Given the description of an element on the screen output the (x, y) to click on. 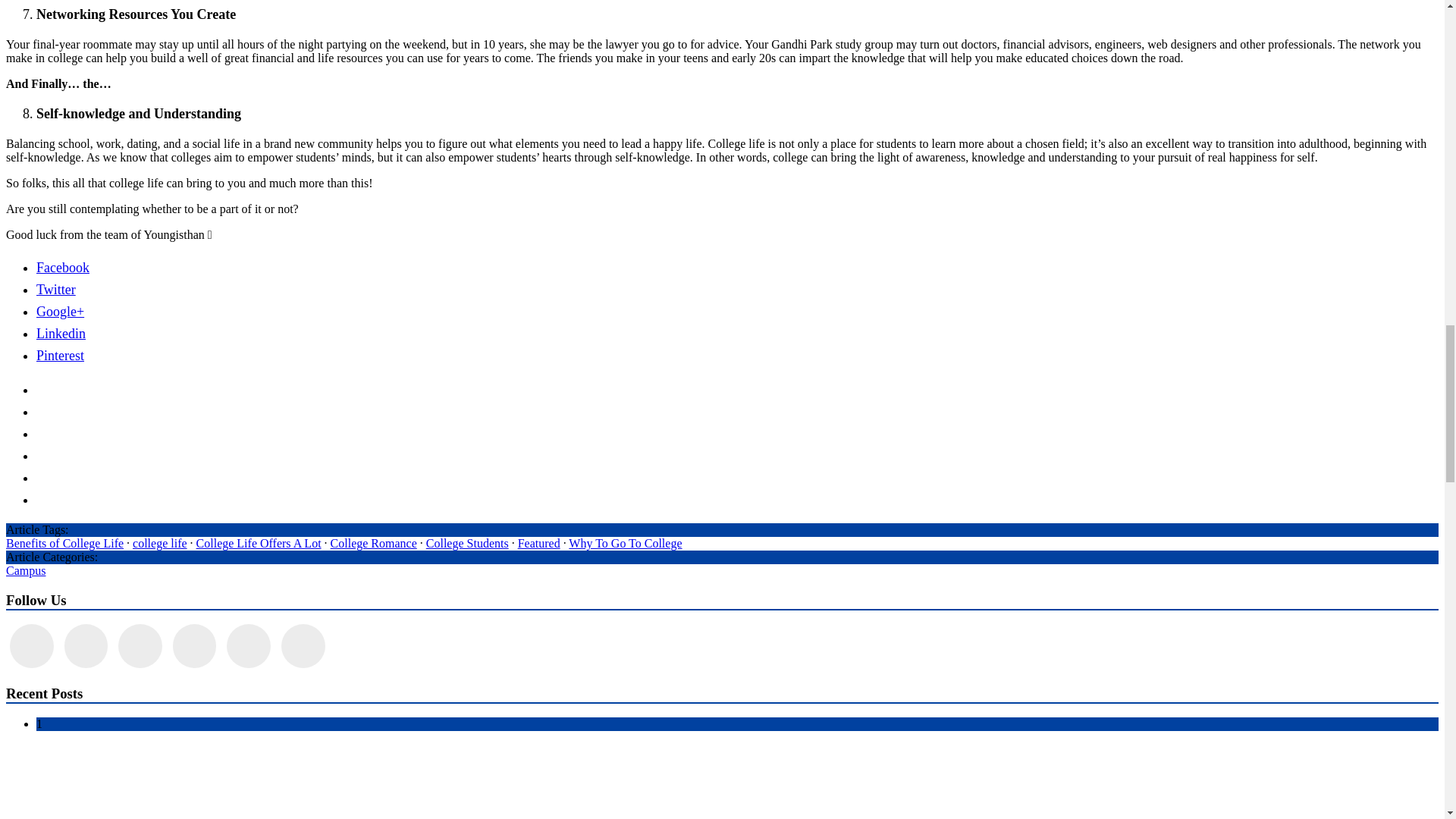
Linkedin (60, 333)
Facebook (62, 267)
Twitter (55, 289)
Pinterest (60, 355)
